Given the description of an element on the screen output the (x, y) to click on. 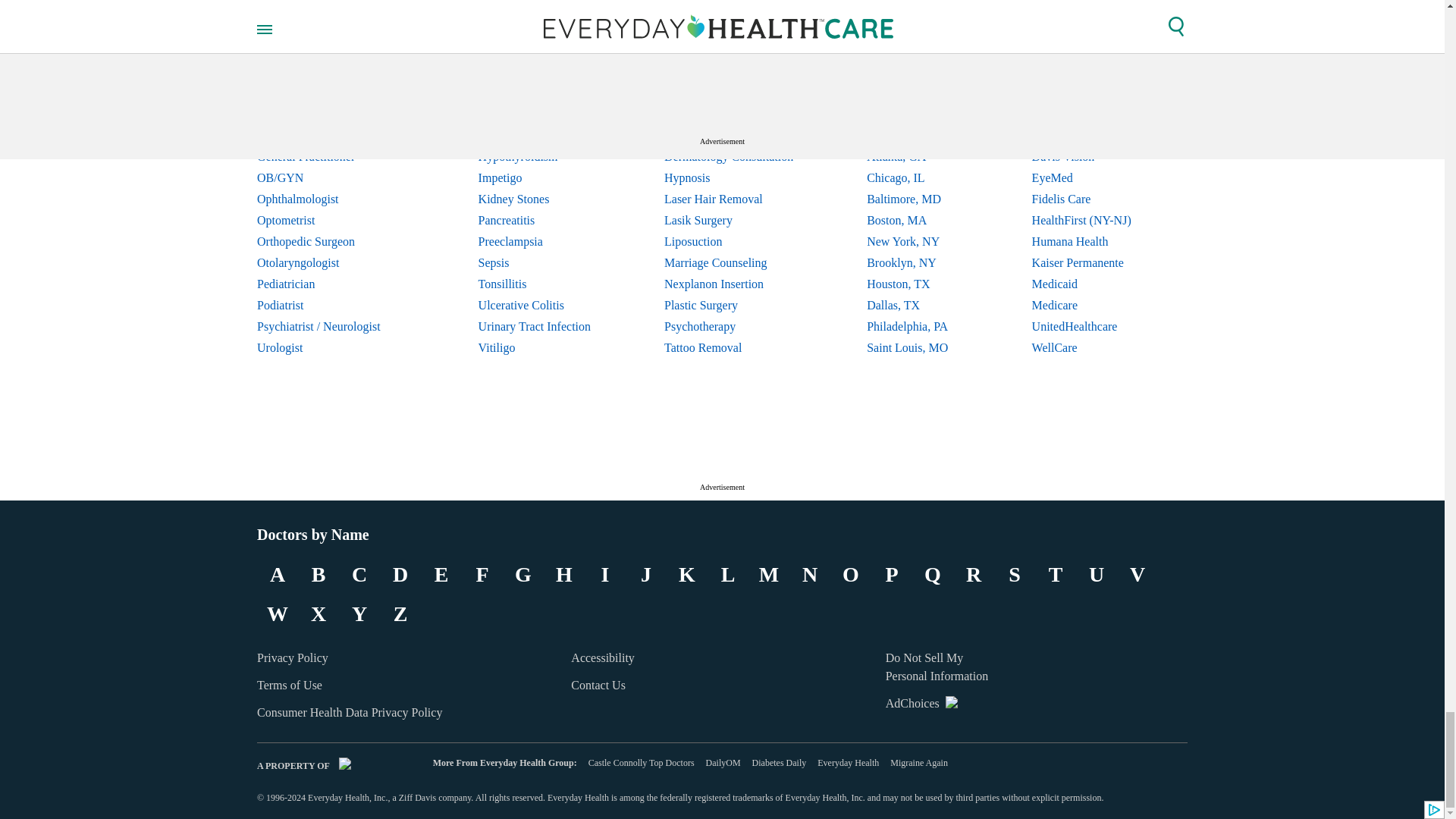
Dermatologist (330, 93)
Hemorrhoids (535, 135)
Pediatrician (330, 283)
Fibromyalgia (535, 114)
Otolaryngologist (330, 262)
Diverticulitis (535, 93)
Cardiologist (330, 71)
Orthopedic Surgeon (330, 241)
Urologist (330, 347)
General Practitioner (330, 156)
Podiatrist (330, 305)
Optometrist (330, 219)
Endocrinologist (330, 114)
Addiction Medicine Specialist (330, 50)
Cold Sores (535, 71)
